Given the description of an element on the screen output the (x, y) to click on. 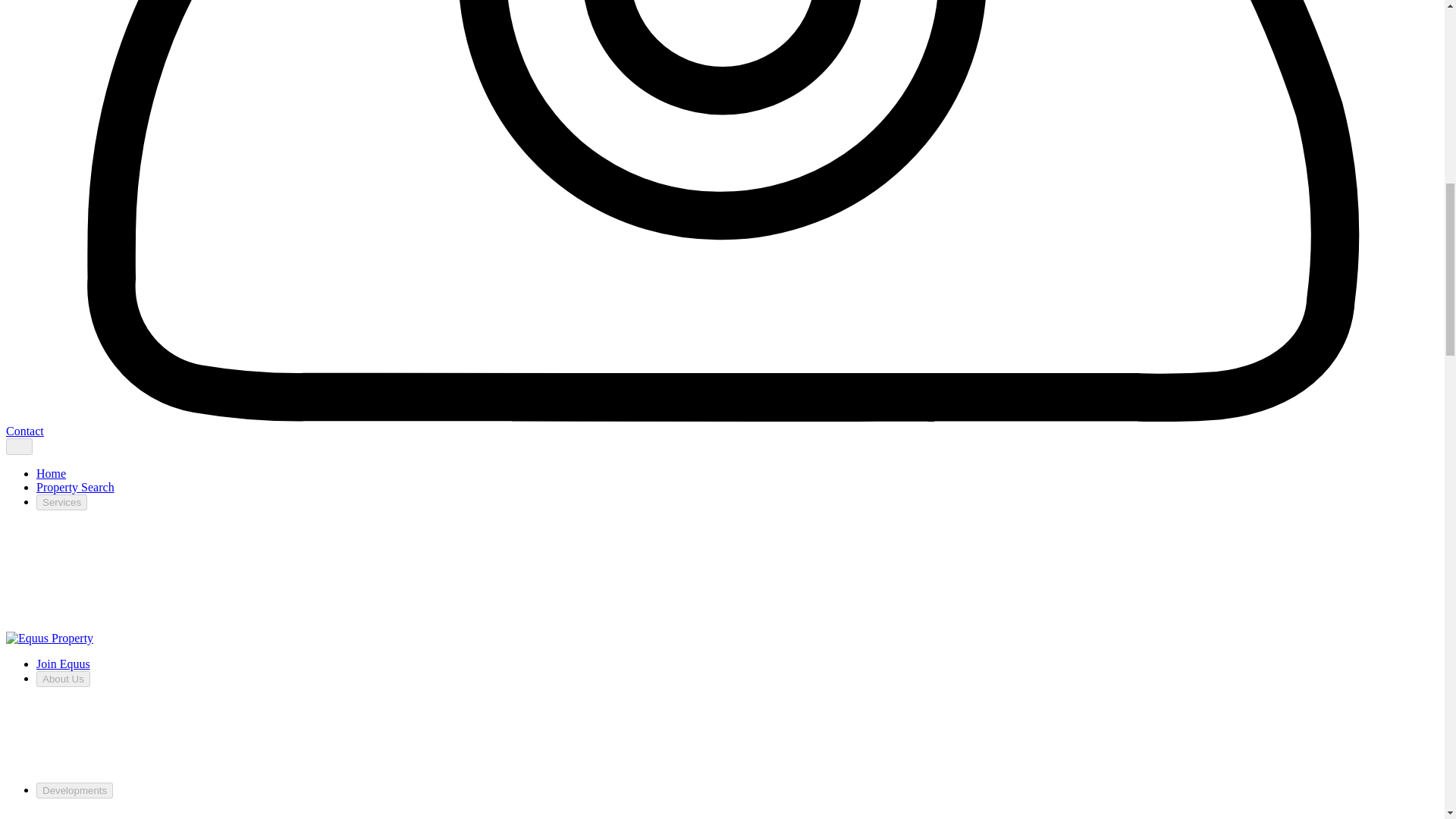
Join Equus (63, 663)
Menu (18, 446)
Developments (74, 790)
Home (50, 472)
Go to homepage (49, 637)
Home (50, 472)
Property Search (75, 486)
Services (61, 502)
Menu icon test (18, 445)
Menu icon test (18, 446)
Join Equus (63, 663)
About Us (63, 678)
About Us (63, 678)
Services (61, 502)
Property Search (75, 486)
